Given the description of an element on the screen output the (x, y) to click on. 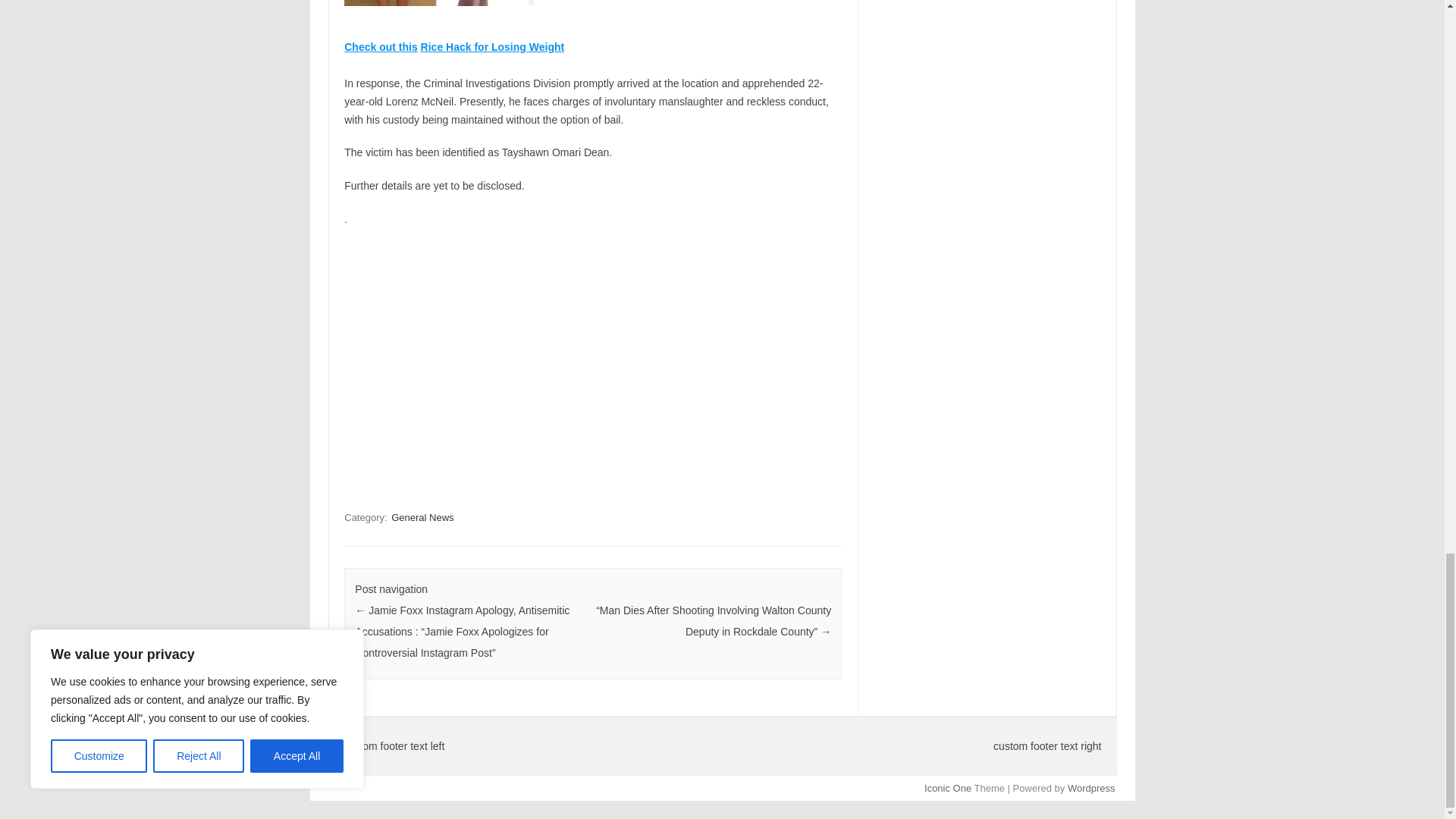
YouTube video player (555, 363)
t this (403, 46)
Check ou (367, 46)
